Given the description of an element on the screen output the (x, y) to click on. 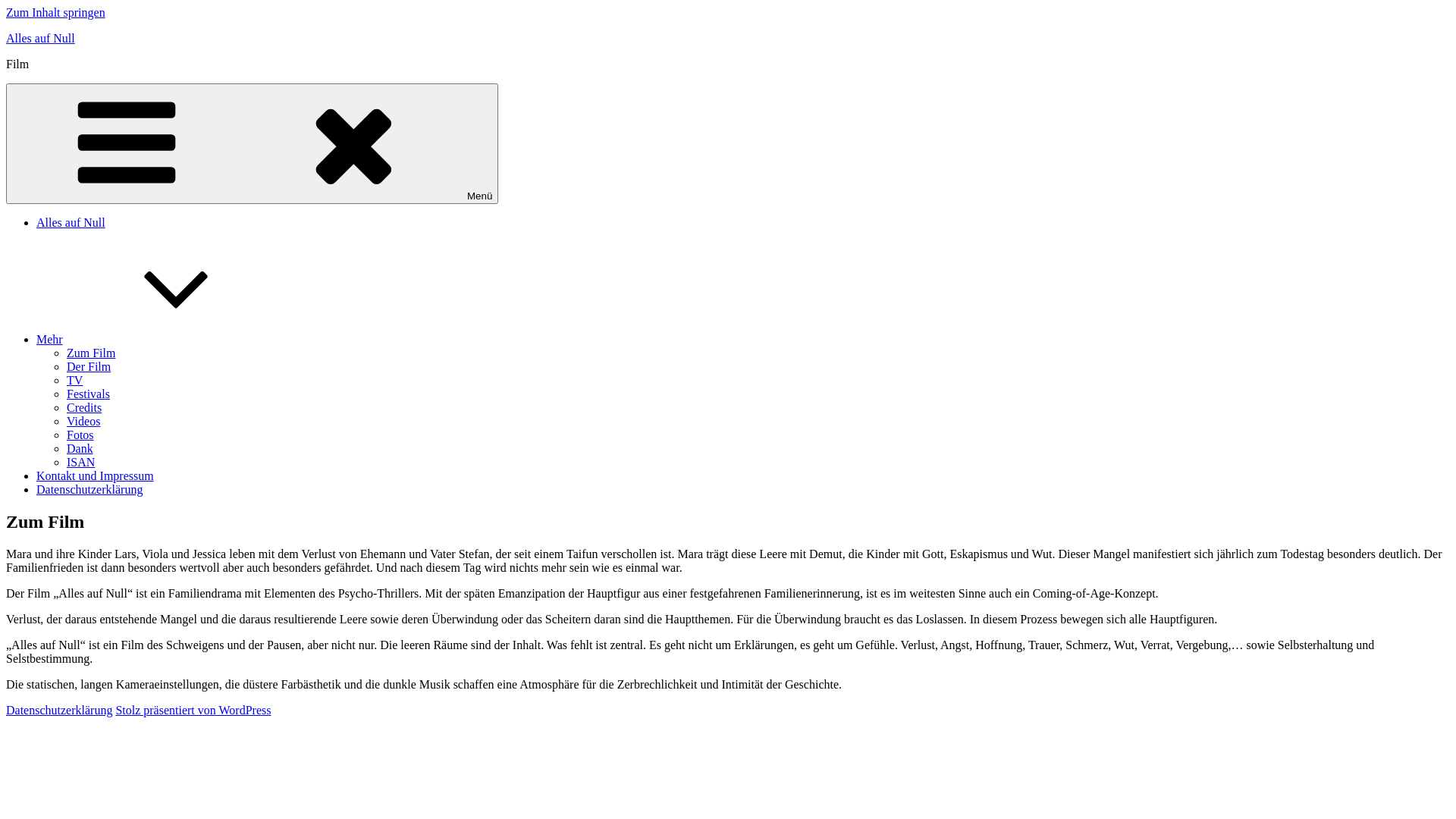
Videos Element type: text (83, 420)
ISAN Element type: text (80, 461)
Kontakt und Impressum Element type: text (94, 475)
Zum Film Element type: text (90, 352)
Alles auf Null Element type: text (70, 222)
Der Film Element type: text (88, 366)
TV Element type: text (74, 379)
Mehr Element type: text (163, 338)
Credits Element type: text (83, 407)
Dank Element type: text (79, 448)
Festivals Element type: text (87, 393)
Zum Inhalt springen Element type: text (55, 12)
Alles auf Null Element type: text (40, 37)
Fotos Element type: text (80, 434)
